Given the description of an element on the screen output the (x, y) to click on. 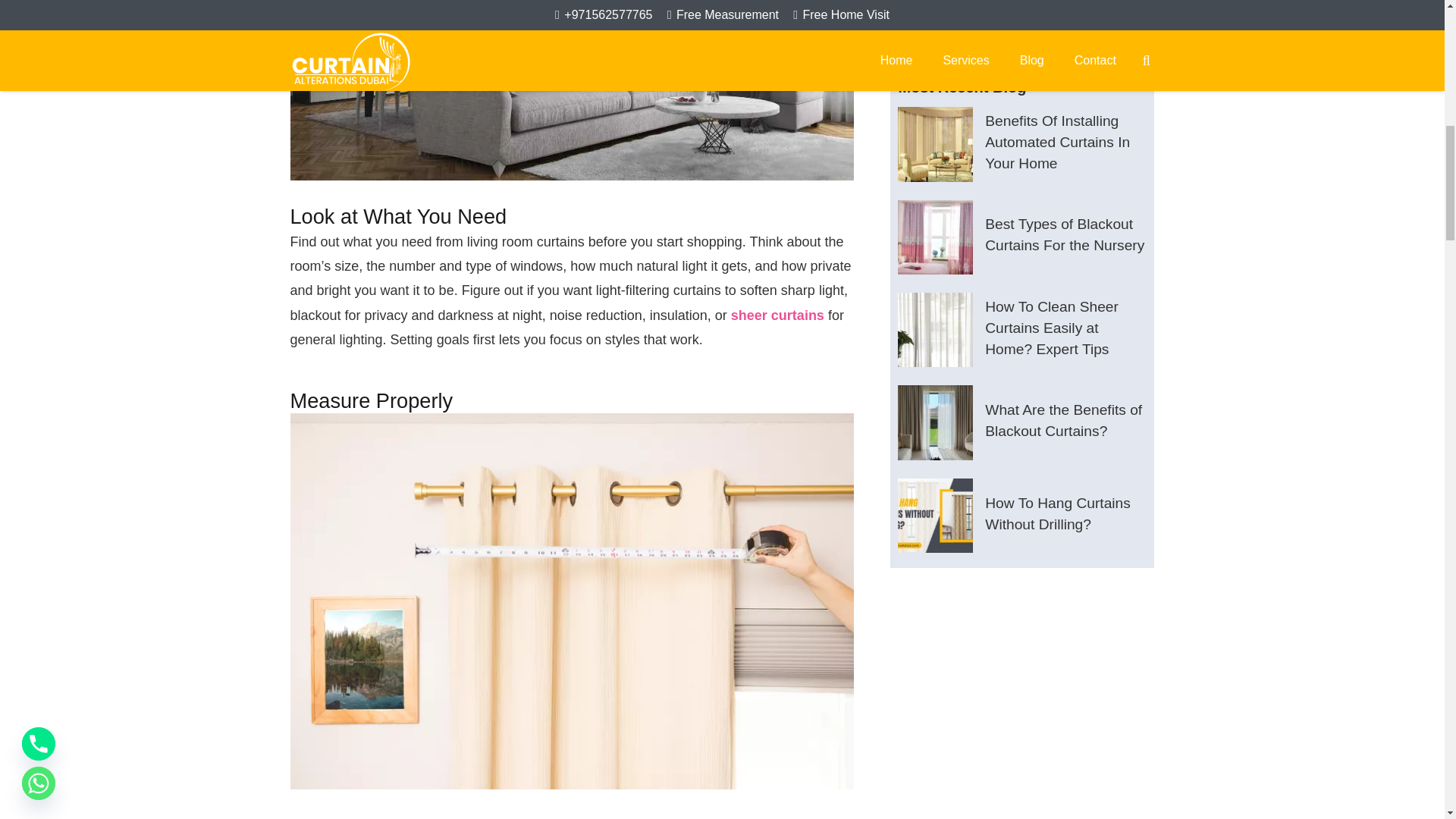
sheer curtains (777, 314)
